Given the description of an element on the screen output the (x, y) to click on. 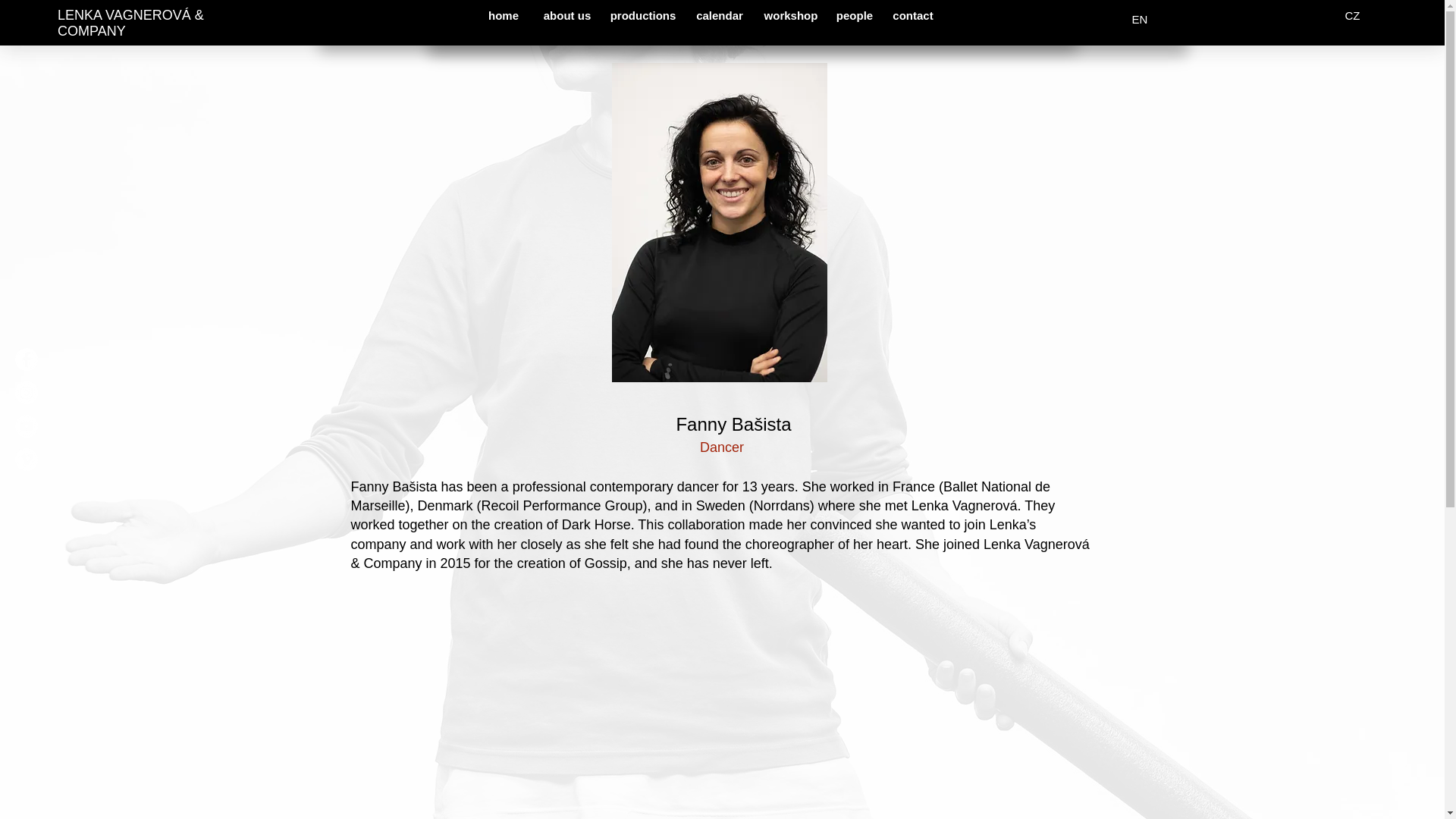
people (854, 15)
productions (642, 15)
kontakt (1038, 19)
inscenace (722, 19)
about us (566, 15)
workshop (791, 15)
CZ (1352, 15)
home (503, 15)
contact (912, 15)
EN (1139, 19)
calendar (719, 15)
studio (976, 19)
lekce (862, 19)
